Given the description of an element on the screen output the (x, y) to click on. 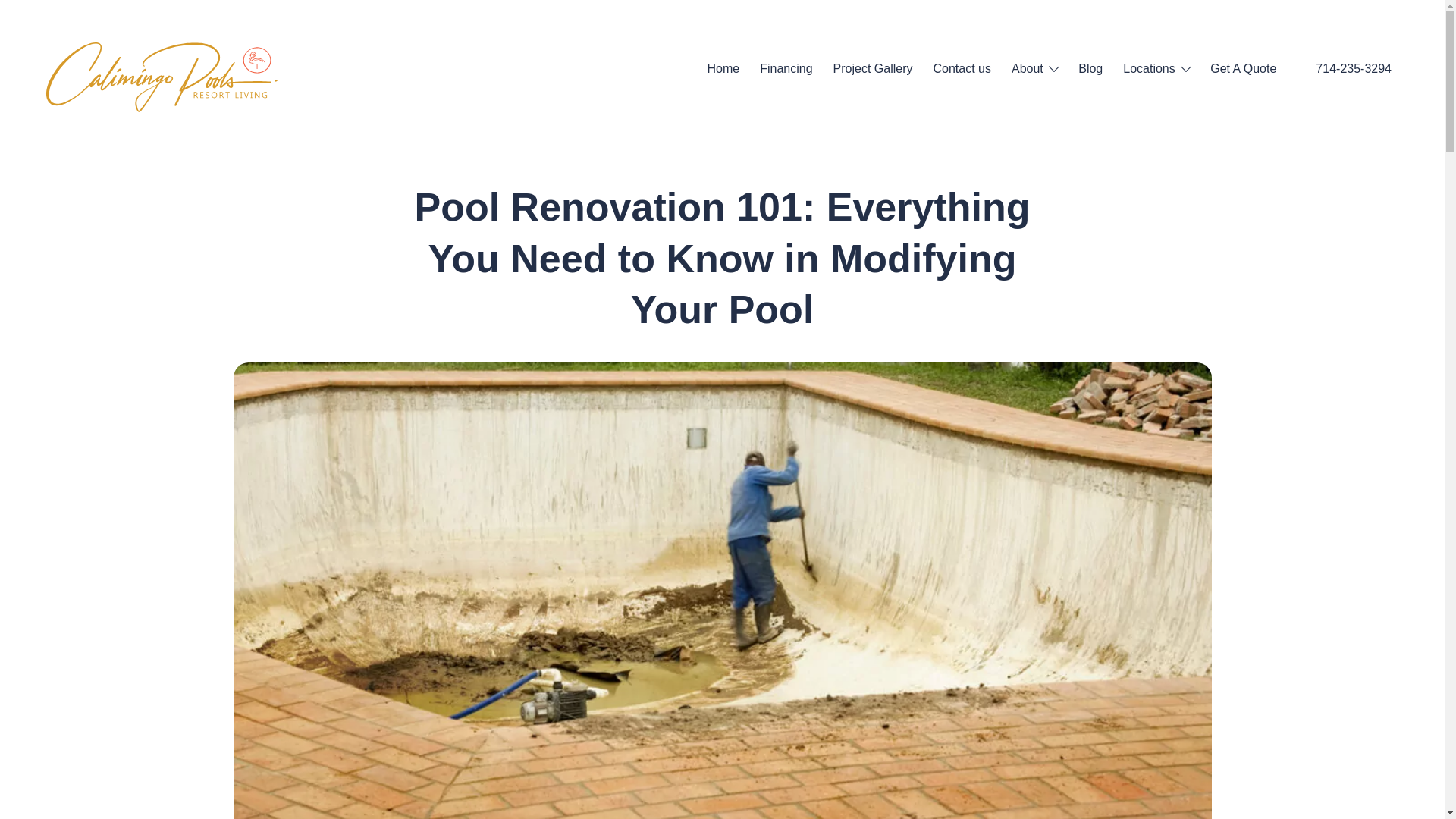
Project Gallery (872, 68)
Contact us (961, 68)
Get A Quote (1242, 68)
Financing (786, 68)
Blog (1090, 68)
Home (722, 68)
714-235-3294 (1353, 68)
About (1034, 68)
Locations (1155, 68)
